Given the description of an element on the screen output the (x, y) to click on. 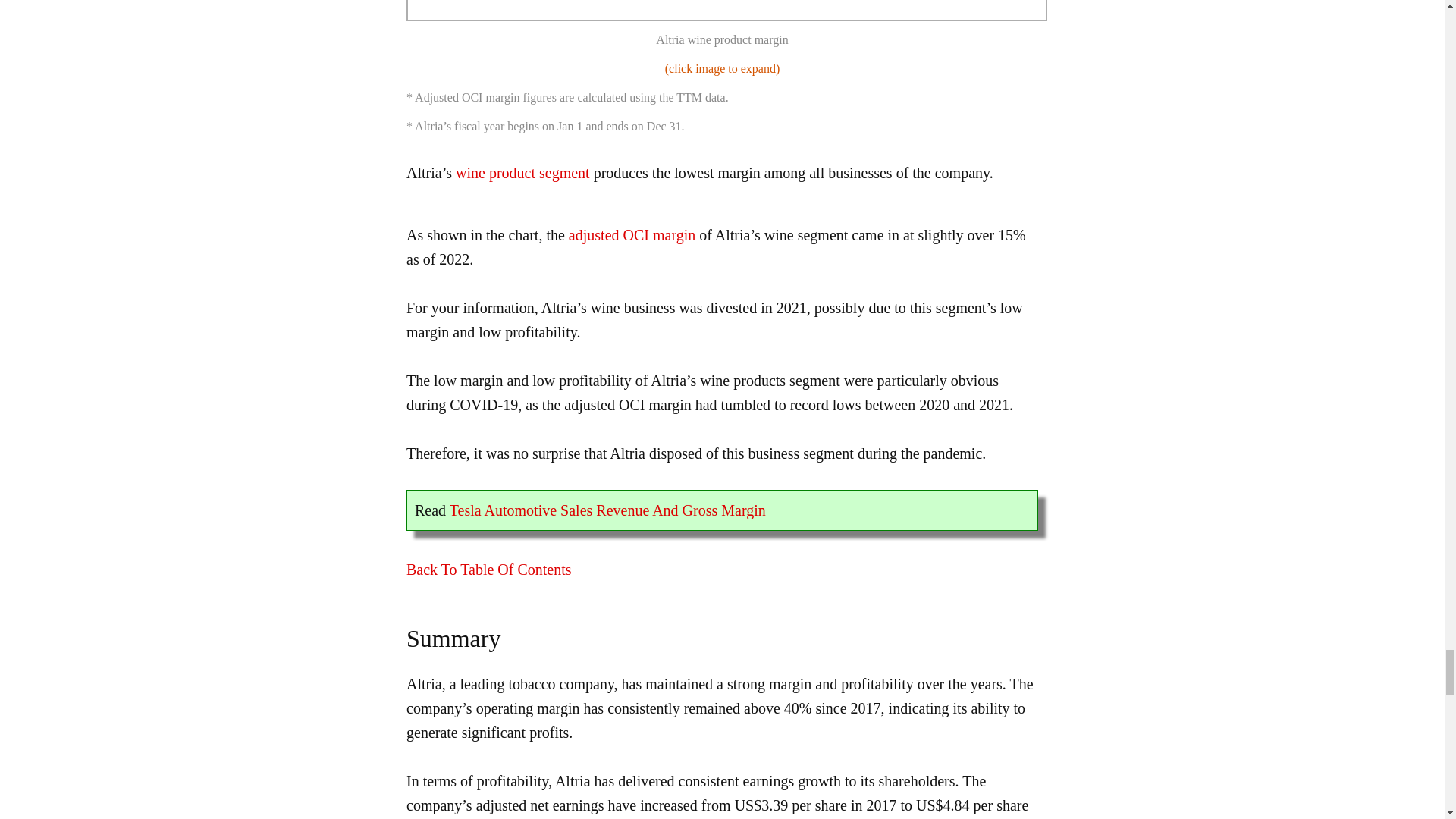
Altria wine product margin (726, 10)
